Given the description of an element on the screen output the (x, y) to click on. 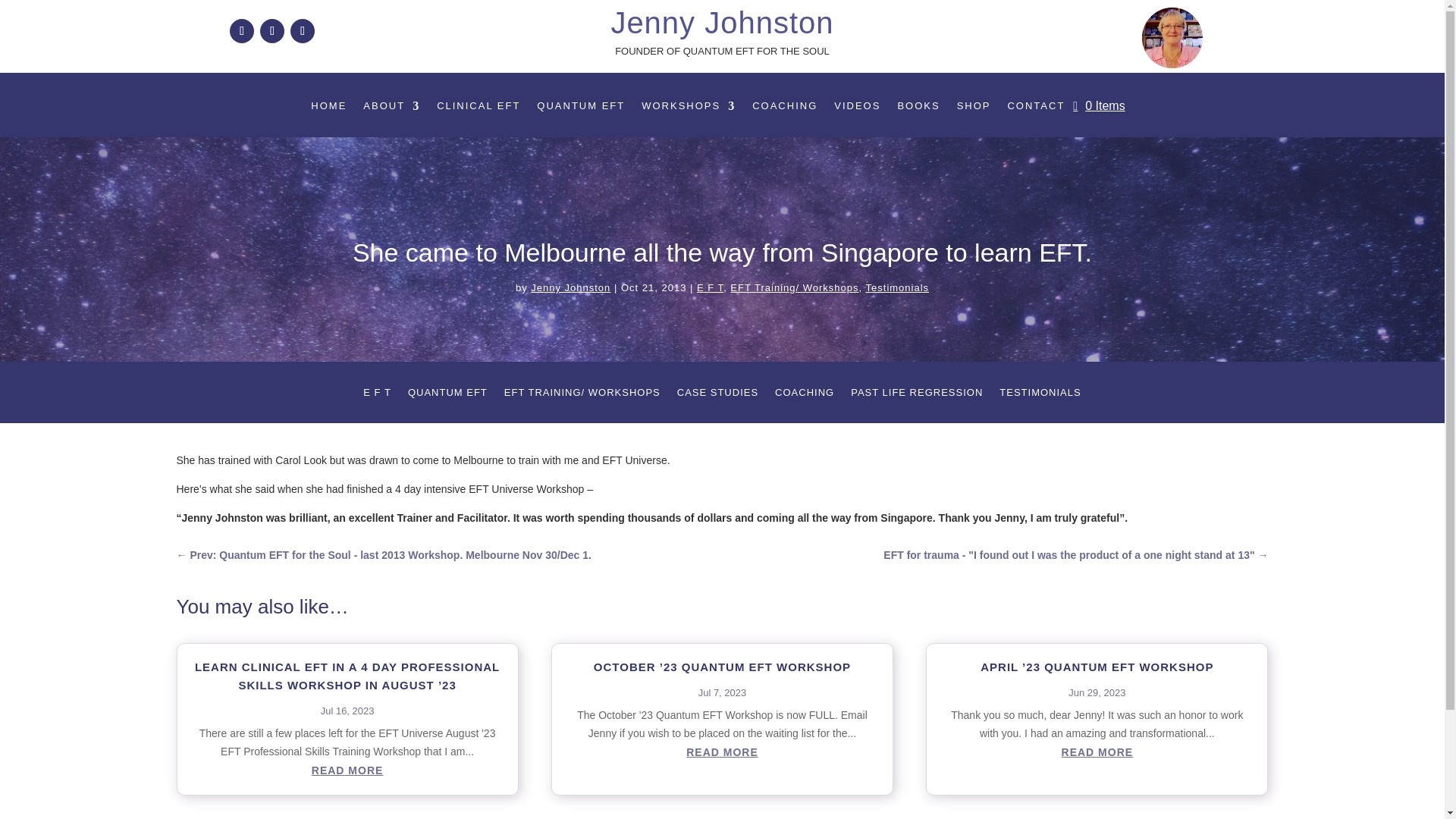
CLINICAL EFT (477, 108)
QUANTUM EFT (447, 395)
Follow on Facebook (241, 30)
VIDEOS (857, 108)
SHOP (973, 108)
0 Items (1098, 106)
ABOUT (391, 108)
COACHING (784, 108)
Follow on Youtube (301, 30)
Follow on Instagram (271, 30)
Testimonials (898, 287)
E F T (376, 395)
QUANTUM EFT (580, 108)
jjprofilepic (1171, 37)
HOME (328, 108)
